Given the description of an element on the screen output the (x, y) to click on. 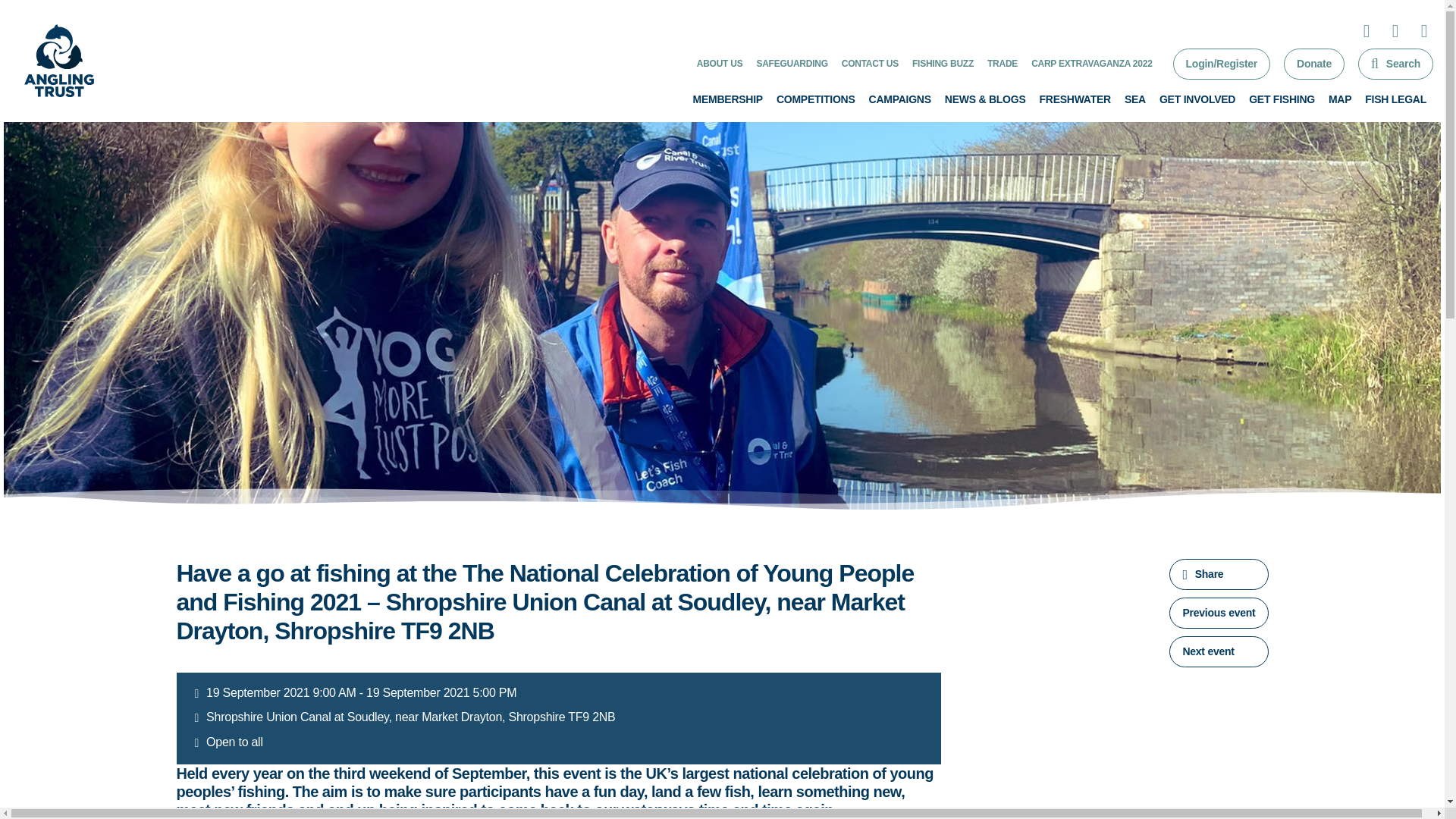
FISHING BUZZ (943, 63)
COMPETITIONS (816, 99)
GET INVOLVED (1196, 99)
SAFEGUARDING (791, 63)
SEA (1134, 99)
CONTACT US (869, 63)
Search (1395, 63)
ABOUT US (719, 63)
MEMBERSHIP (727, 99)
Donate (1313, 63)
